Given the description of an element on the screen output the (x, y) to click on. 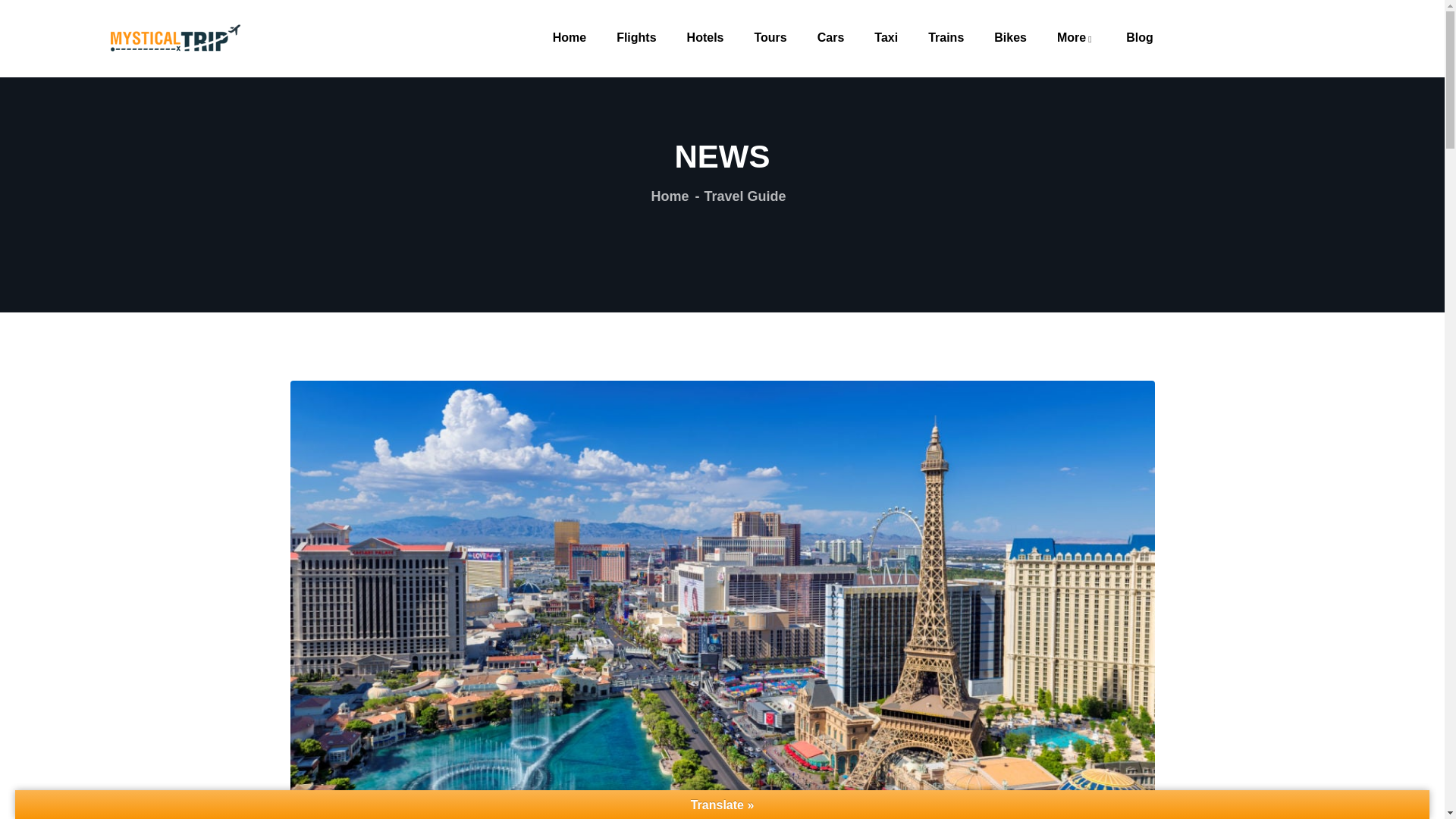
Flights (636, 38)
Home (175, 37)
